Given the description of an element on the screen output the (x, y) to click on. 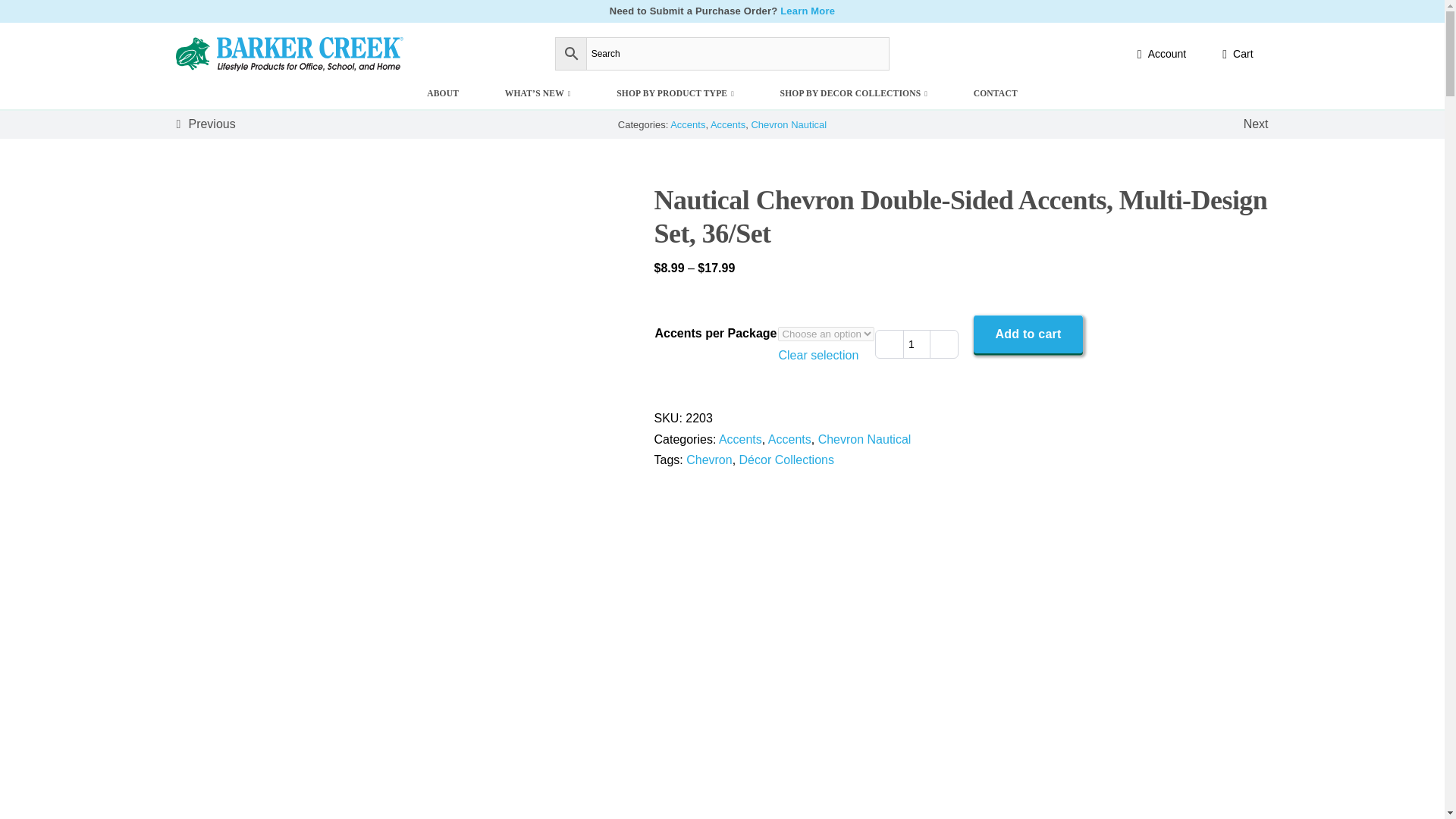
1 (916, 343)
Cart (1234, 53)
Learn More (807, 10)
Account (1158, 53)
ABOUT (442, 93)
Log In (1136, 176)
SHOP BY PRODUCT TYPE (675, 93)
